Given the description of an element on the screen output the (x, y) to click on. 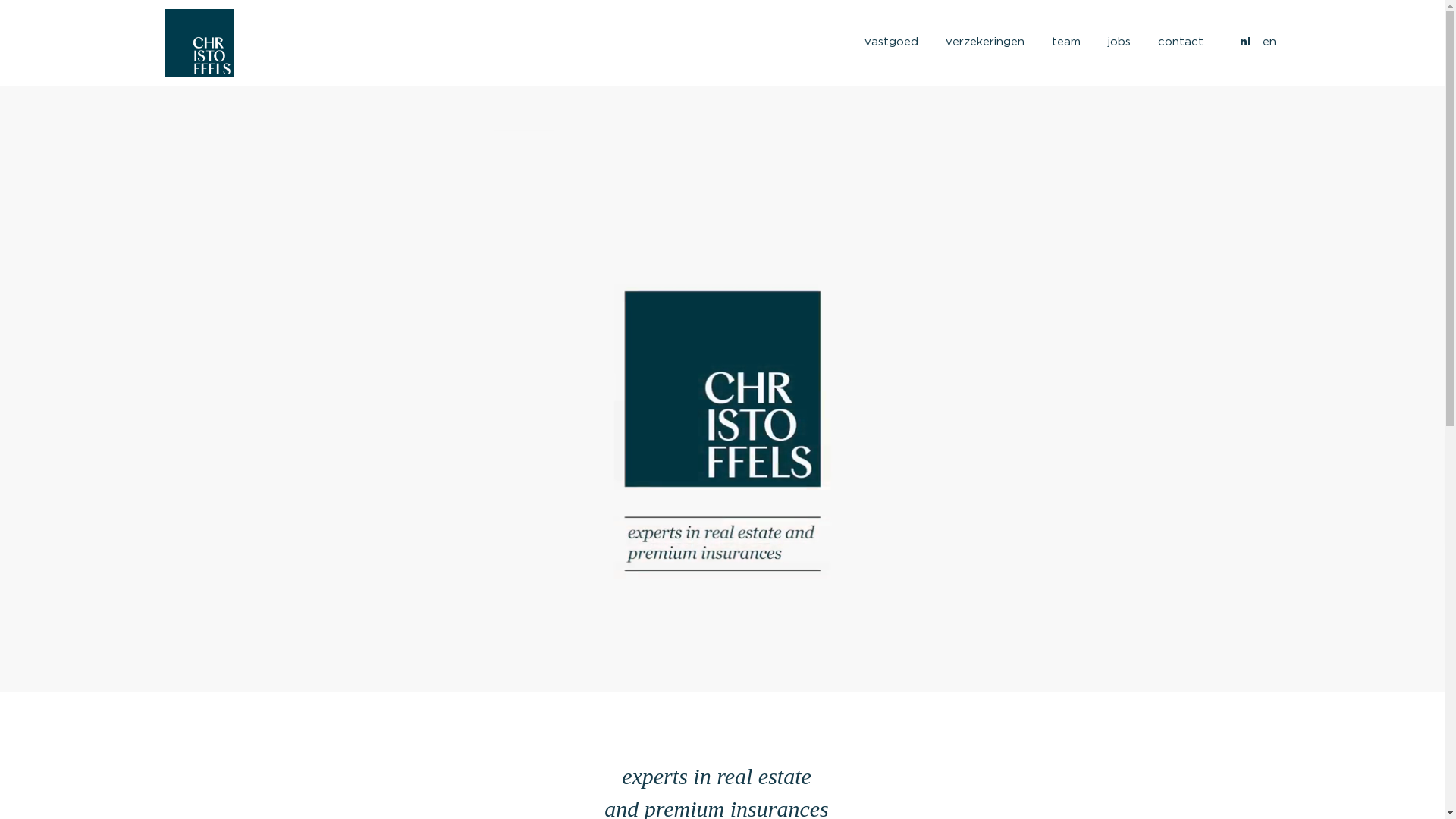
vastgoed Element type: text (890, 38)
verzekeringen Element type: text (984, 38)
contact Element type: text (1179, 38)
jobs Element type: text (1118, 38)
en Element type: text (1268, 38)
team Element type: text (1065, 38)
nl Element type: text (1244, 38)
